Given the description of an element on the screen output the (x, y) to click on. 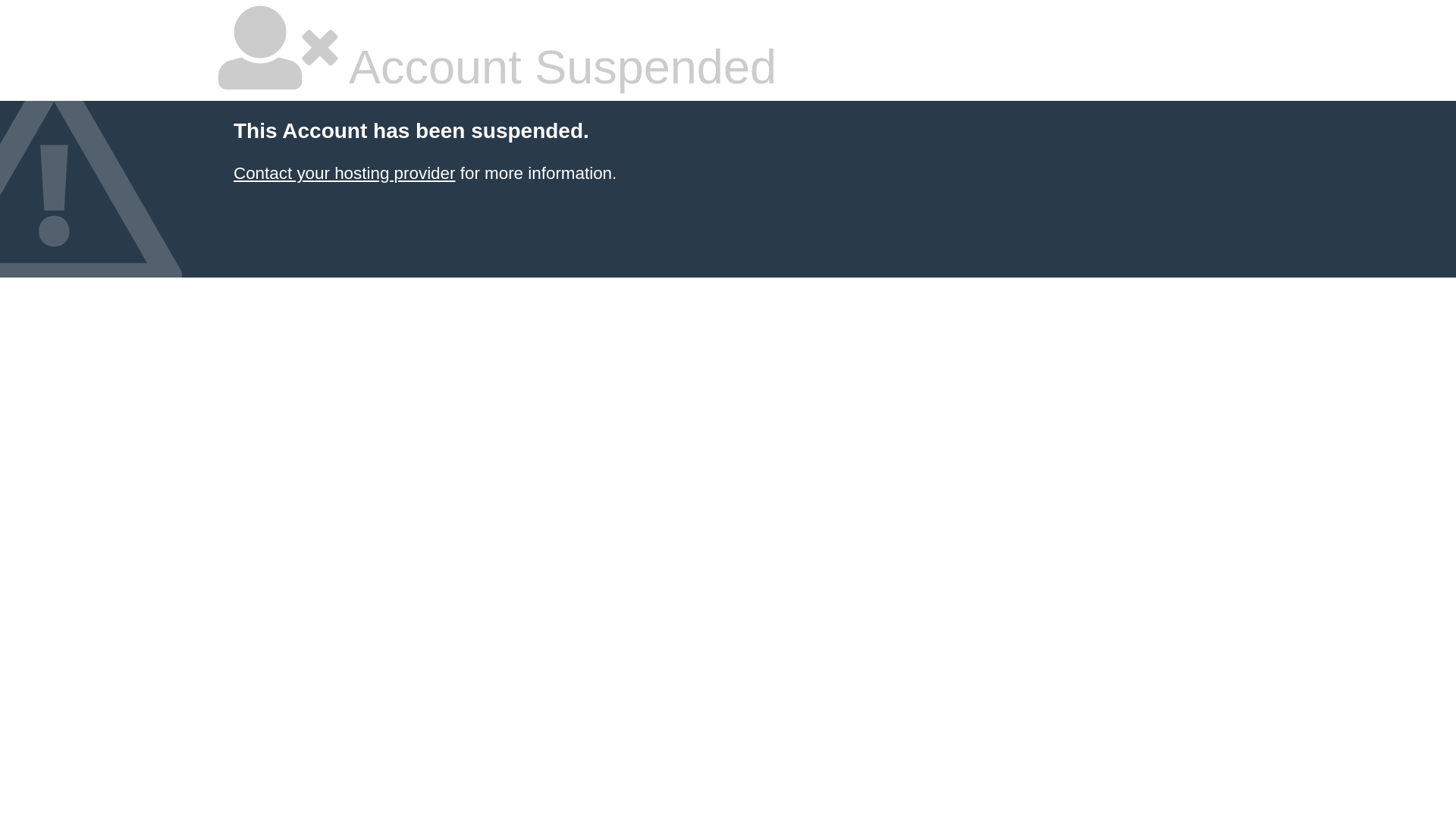
Contact your hosting provider Element type: text (344, 172)
